Given the description of an element on the screen output the (x, y) to click on. 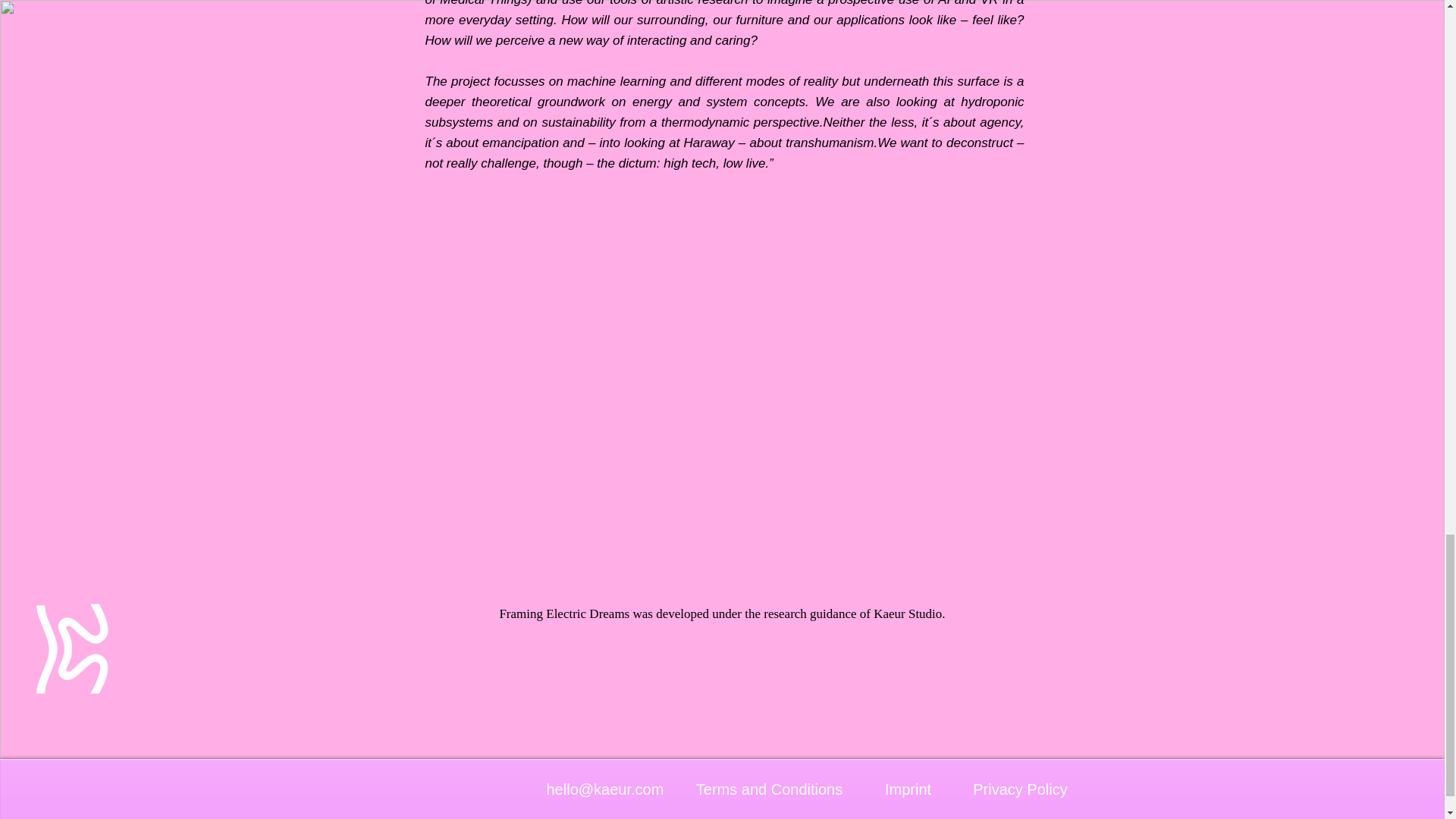
Terms and Conditions (769, 788)
Privacy Policy (1020, 788)
Imprint (906, 788)
